Given the description of an element on the screen output the (x, y) to click on. 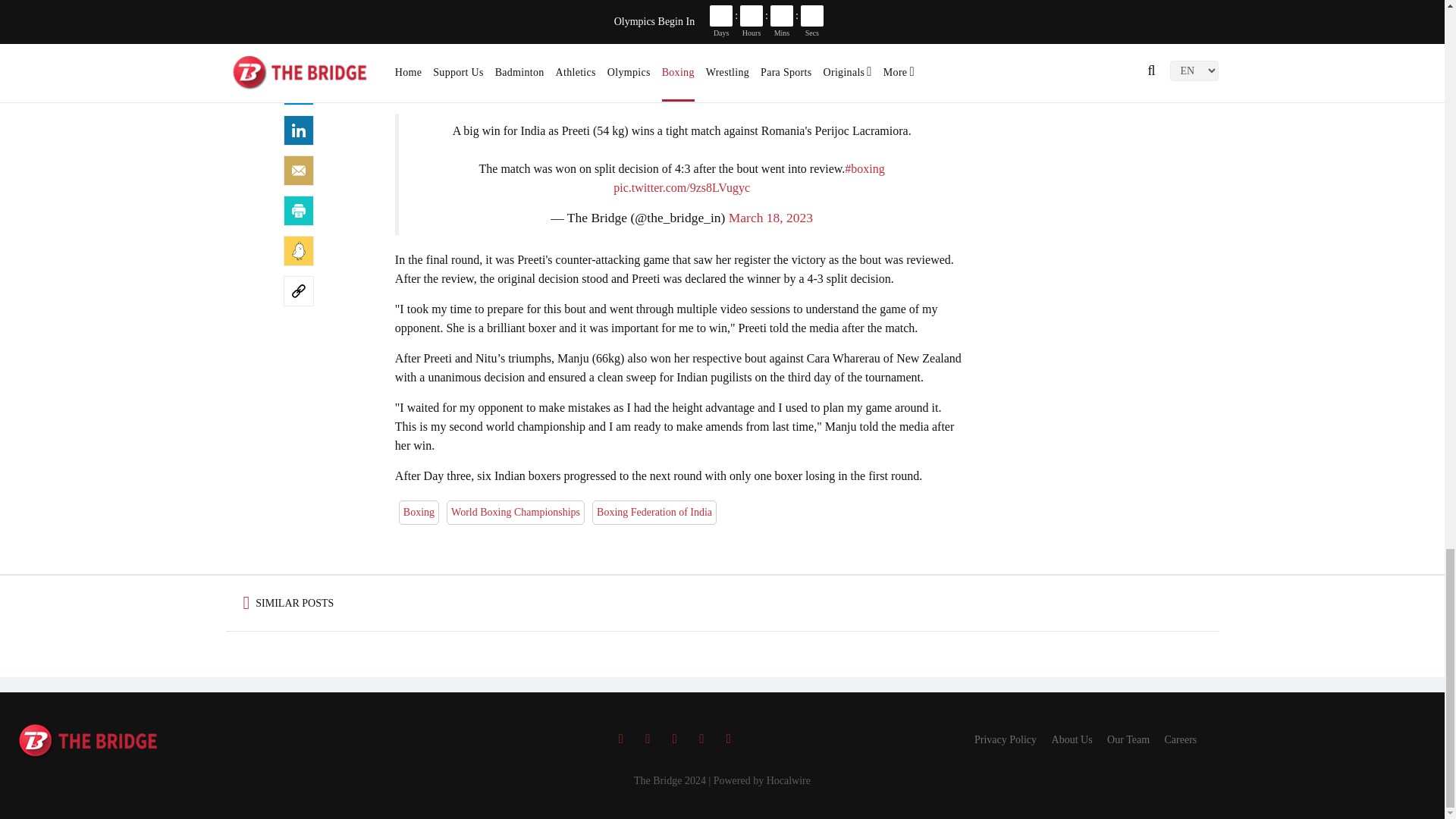
Share by Email (298, 170)
LinkedIn (298, 130)
